Given the description of an element on the screen output the (x, y) to click on. 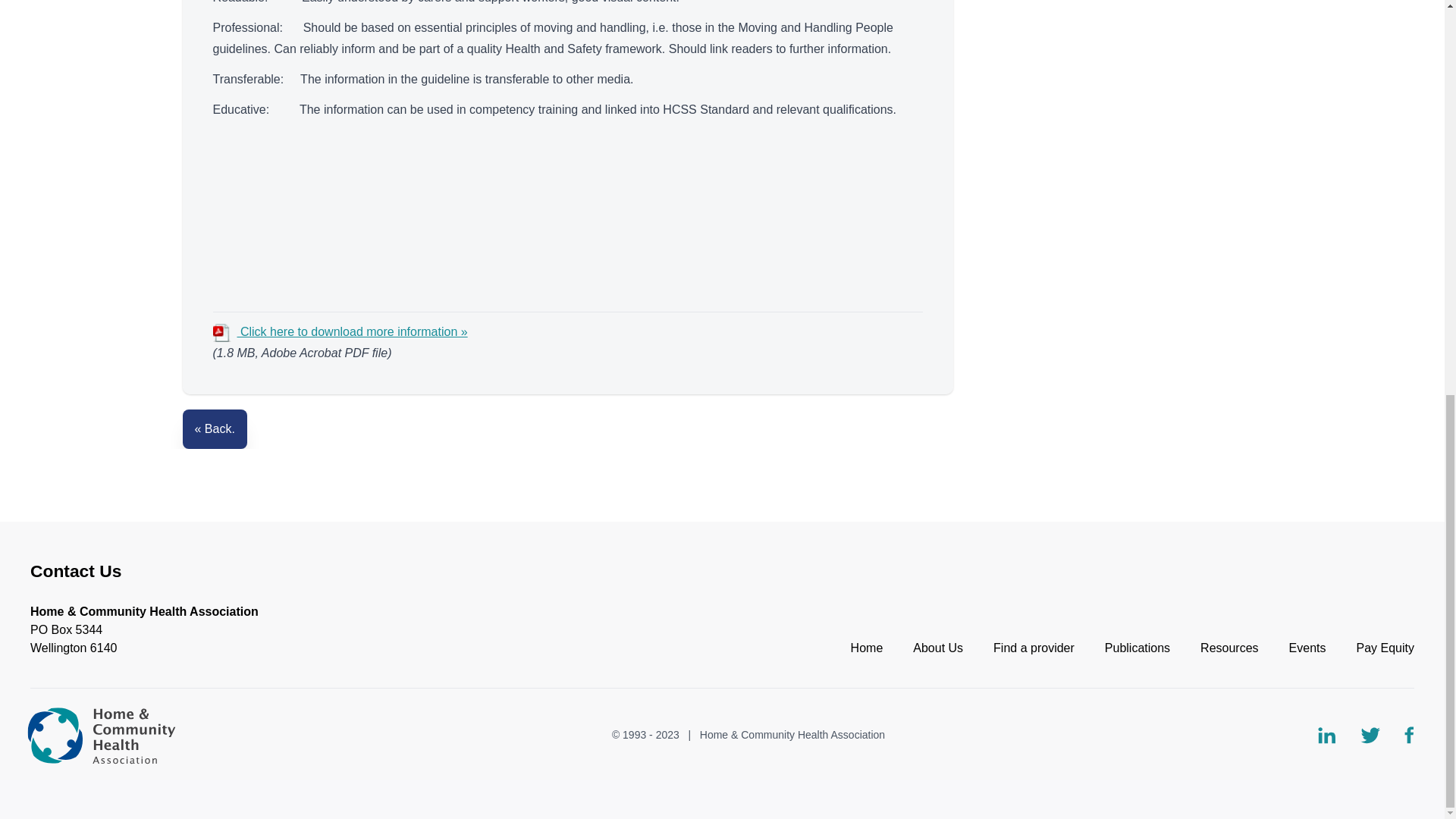
Pay Equity (1384, 647)
Events (1307, 647)
Find Provider   (1033, 647)
Home (866, 647)
About the Home and Community Health Association (937, 647)
Resources (1228, 647)
Publications (1137, 647)
